Given the description of an element on the screen output the (x, y) to click on. 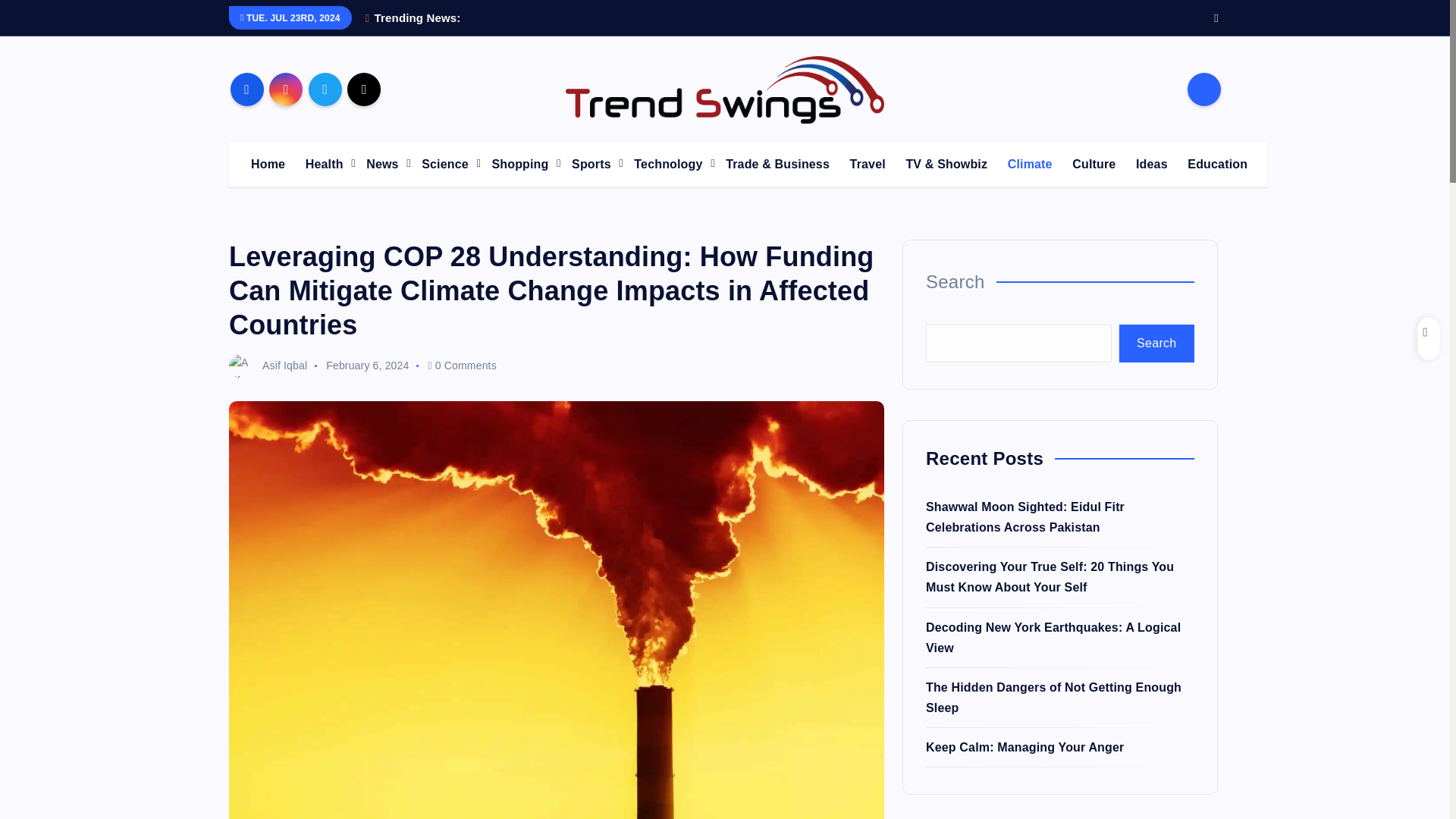
Home (267, 164)
Shopping (520, 164)
Health (326, 164)
News (383, 164)
Health (326, 164)
Science (446, 164)
Sports (592, 164)
News (383, 164)
Home (267, 164)
